Given the description of an element on the screen output the (x, y) to click on. 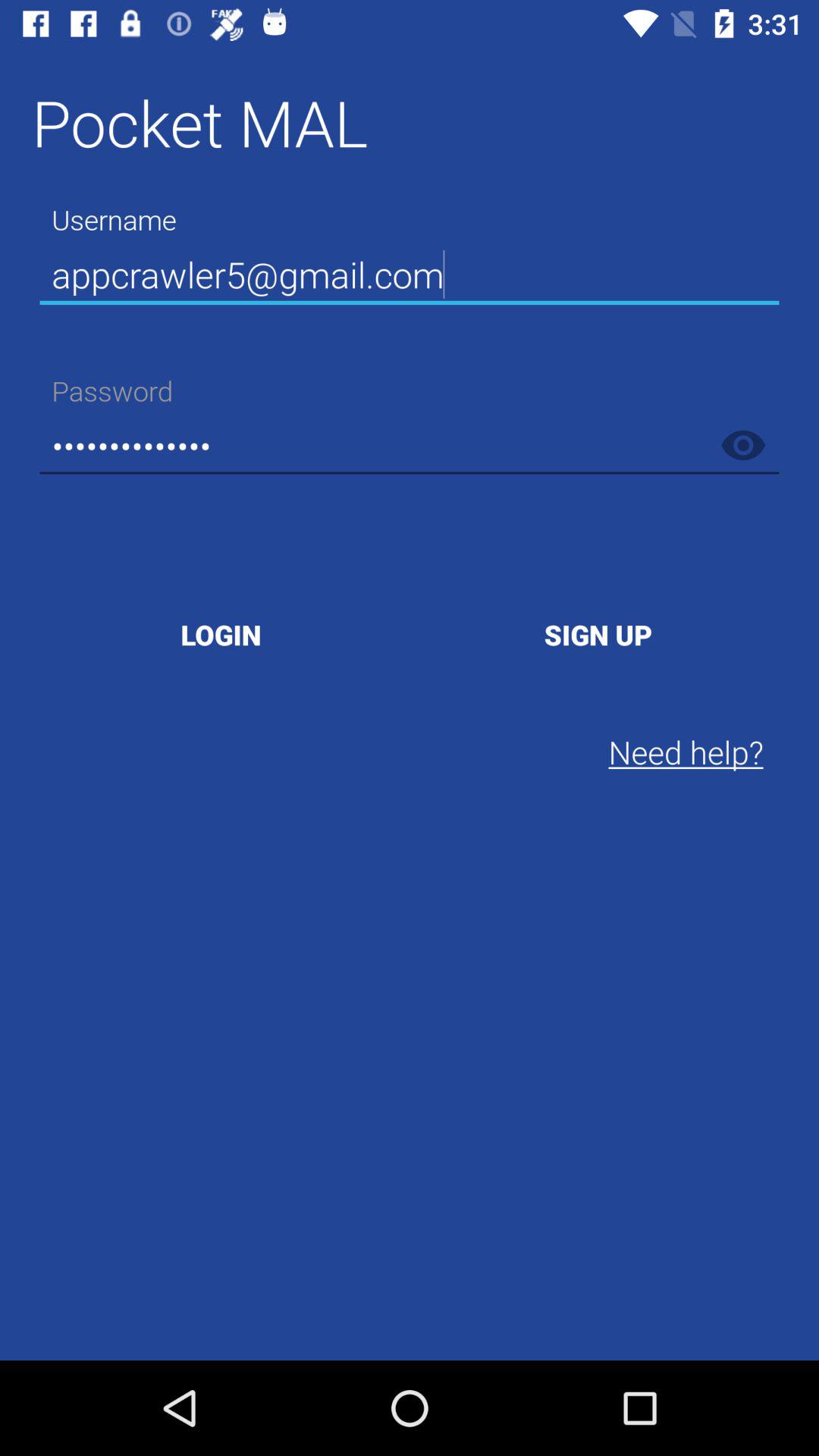
show password (743, 445)
